Given the description of an element on the screen output the (x, y) to click on. 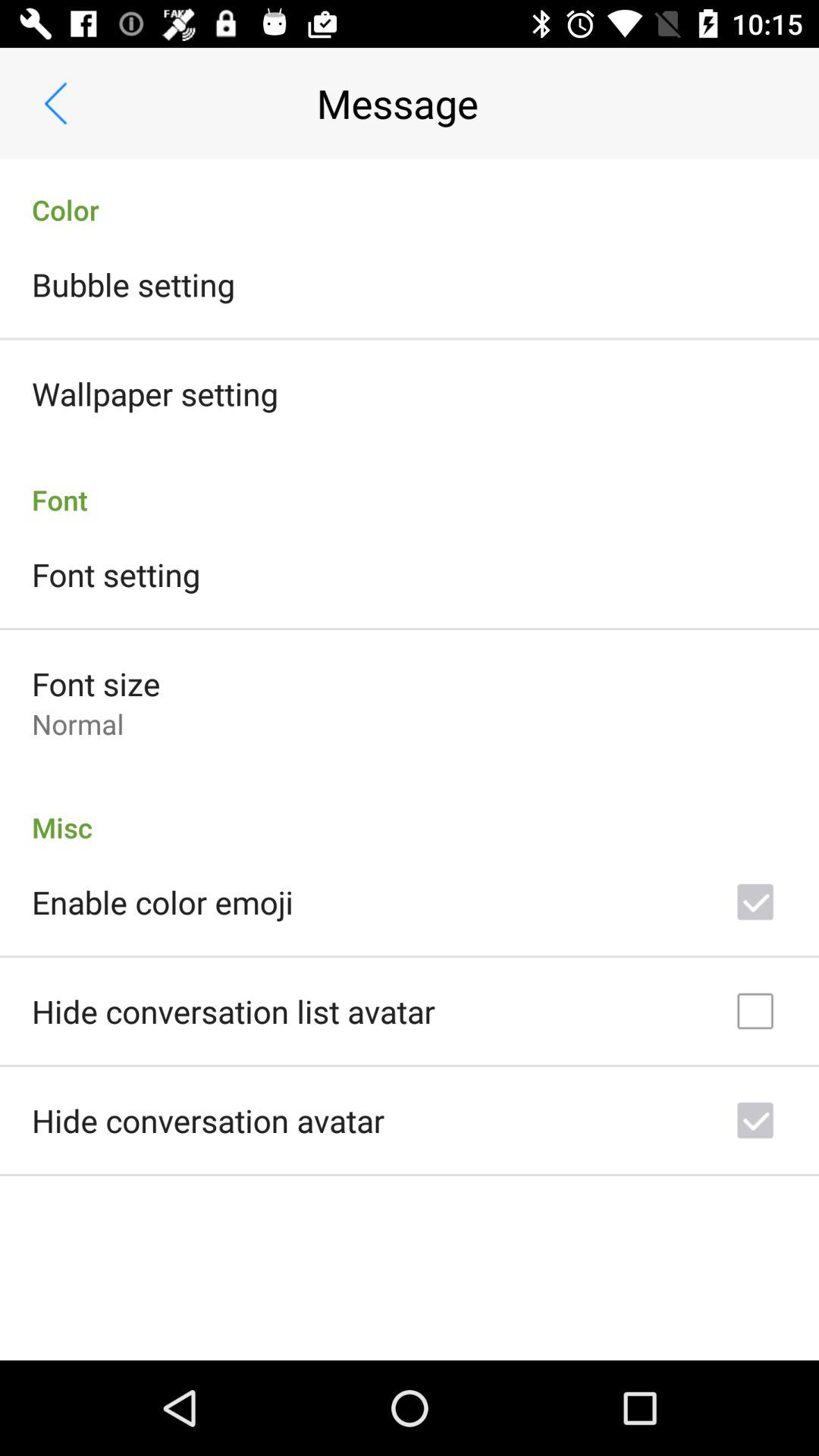
select the icon above font size (115, 574)
